Given the description of an element on the screen output the (x, y) to click on. 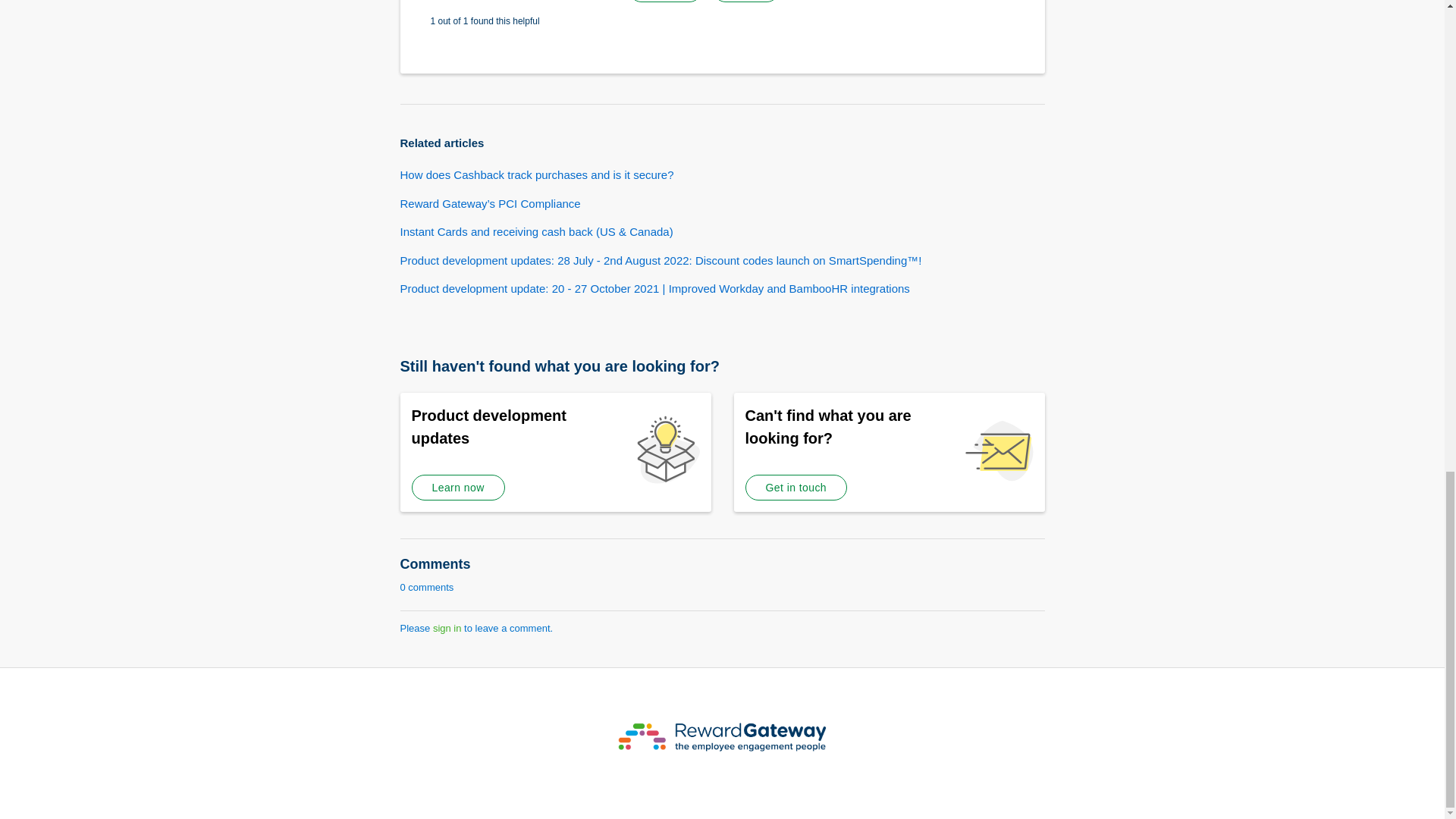
Get in touch (795, 487)
Learn now (456, 487)
sign in (446, 627)
No (745, 1)
How does Cashback track purchases and is it secure? (537, 174)
Yes (664, 1)
